Given the description of an element on the screen output the (x, y) to click on. 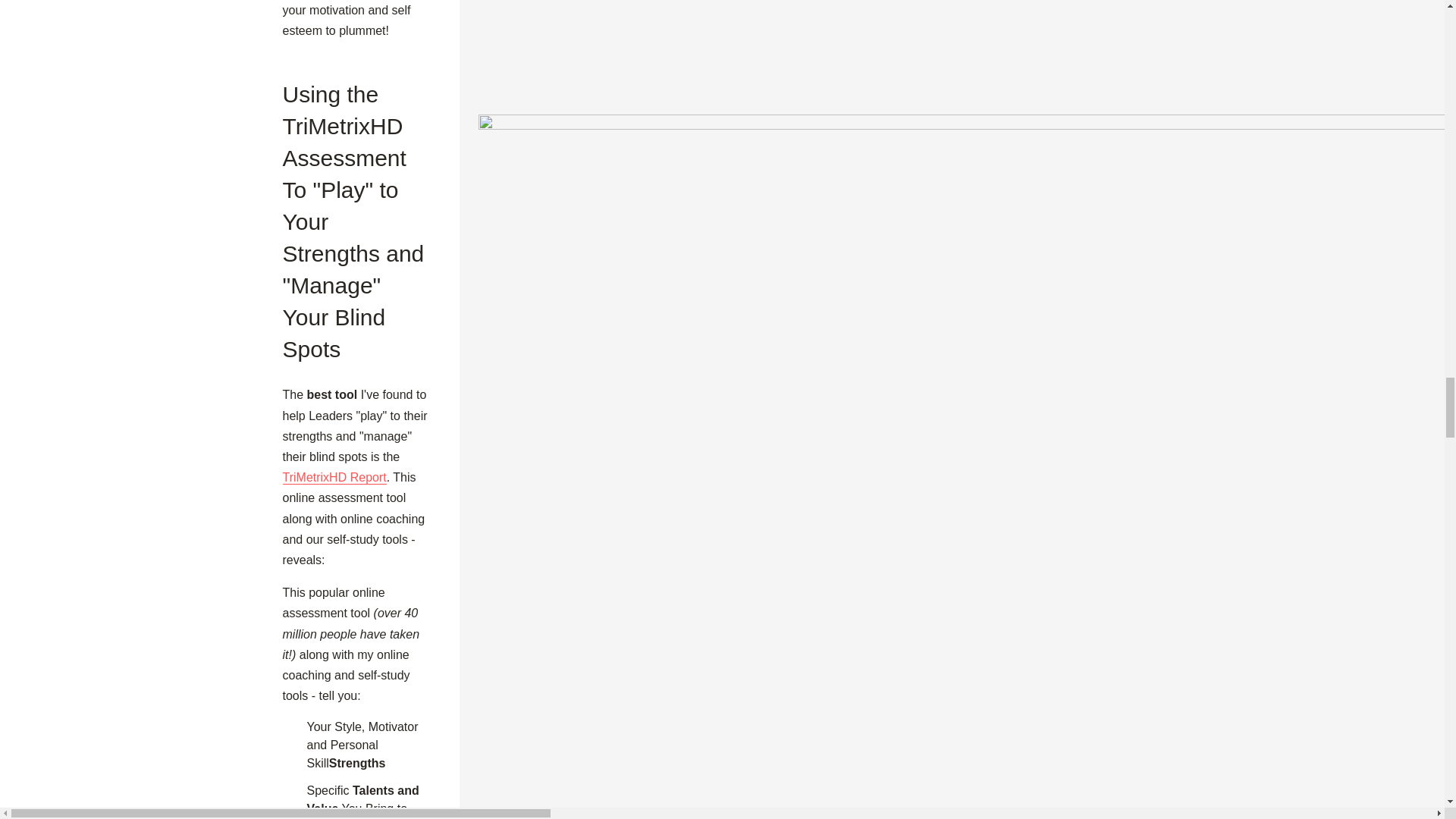
TriMetrixHD Report (333, 477)
Buy the Book (966, 60)
